Given the description of an element on the screen output the (x, y) to click on. 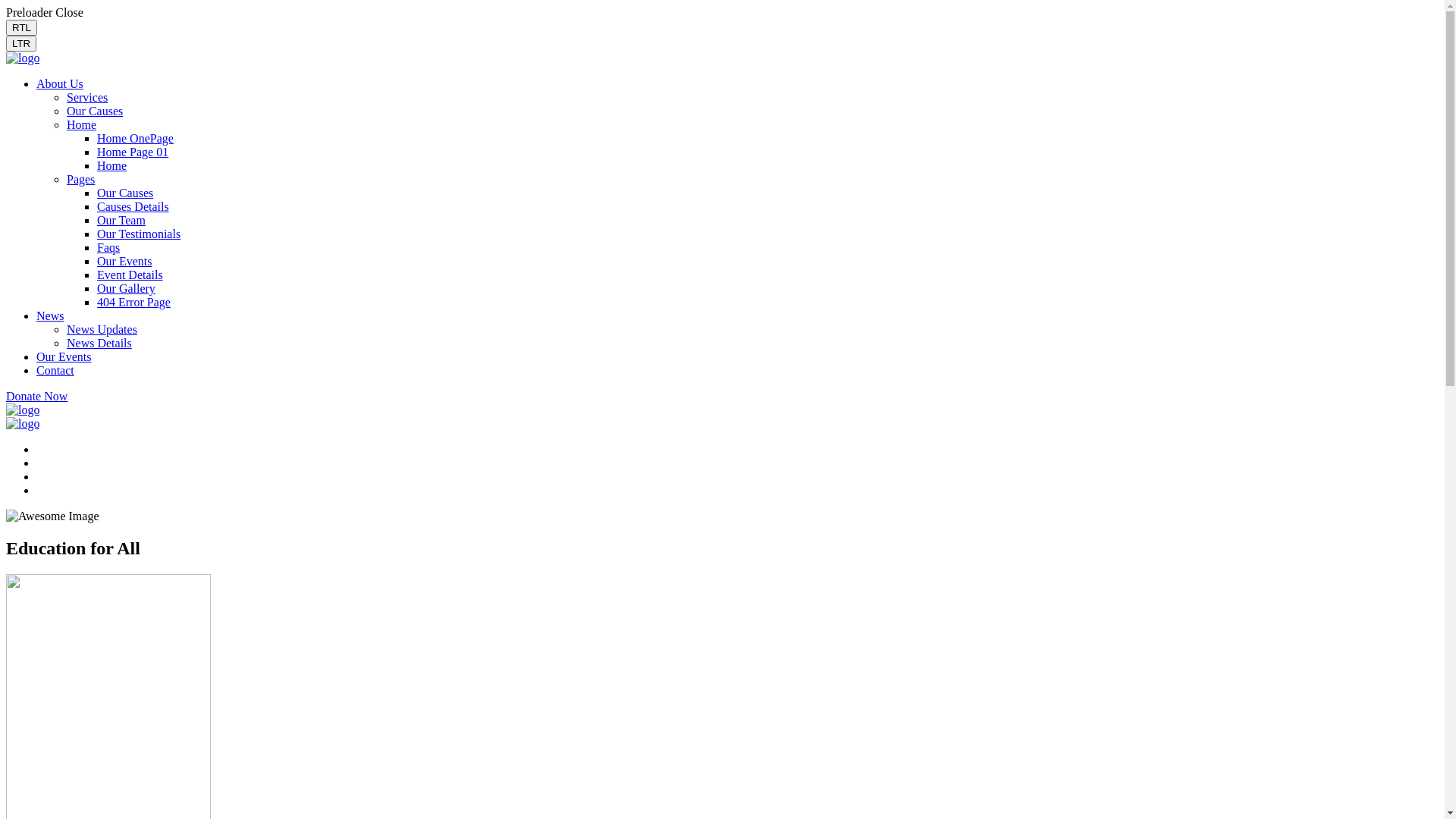
Melanesia Crowd Funding Element type: hover (22, 423)
Donate Now Element type: text (36, 395)
Home Element type: text (81, 124)
RTL Element type: text (21, 27)
Our Testimonials Element type: text (138, 233)
Our Gallery Element type: text (126, 288)
Our Causes Element type: text (125, 192)
Our Causes Element type: text (94, 110)
News Updates Element type: text (101, 329)
LTR Element type: text (21, 43)
Faqs Element type: text (108, 247)
Melanesia Crowd Funding Element type: hover (22, 409)
Our Events Element type: text (124, 260)
Causes Details Element type: text (133, 206)
Melanesia Crowd Funding Element type: hover (22, 57)
Home OnePage Element type: text (135, 137)
Contact Element type: text (55, 370)
Home Page 01 Element type: text (132, 151)
News Element type: text (49, 315)
Home Element type: text (111, 165)
Services Element type: text (86, 97)
News Details Element type: text (98, 342)
About Us Element type: text (59, 83)
404 Error Page Element type: text (133, 301)
Pages Element type: text (80, 178)
Our Events Element type: text (63, 356)
Event Details Element type: text (130, 274)
Our Team Element type: text (121, 219)
